Given the description of an element on the screen output the (x, y) to click on. 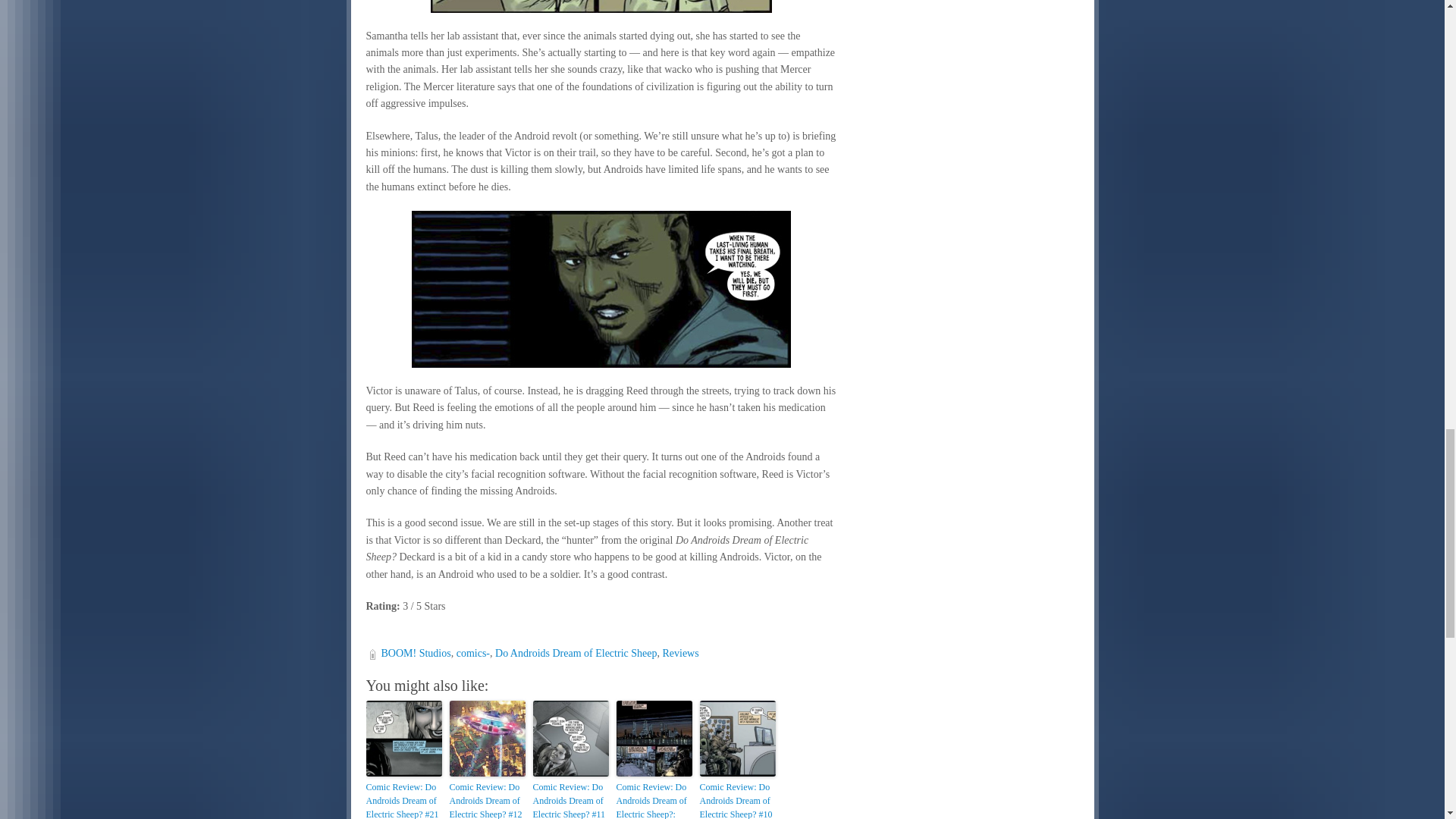
Do Androids Dream of Electric Sheep (575, 653)
Reviews (680, 653)
dadoesdust2-2 (600, 288)
dadoesdust2-3 (600, 6)
BOOM! Studios (414, 653)
comics- (473, 653)
